Given the description of an element on the screen output the (x, y) to click on. 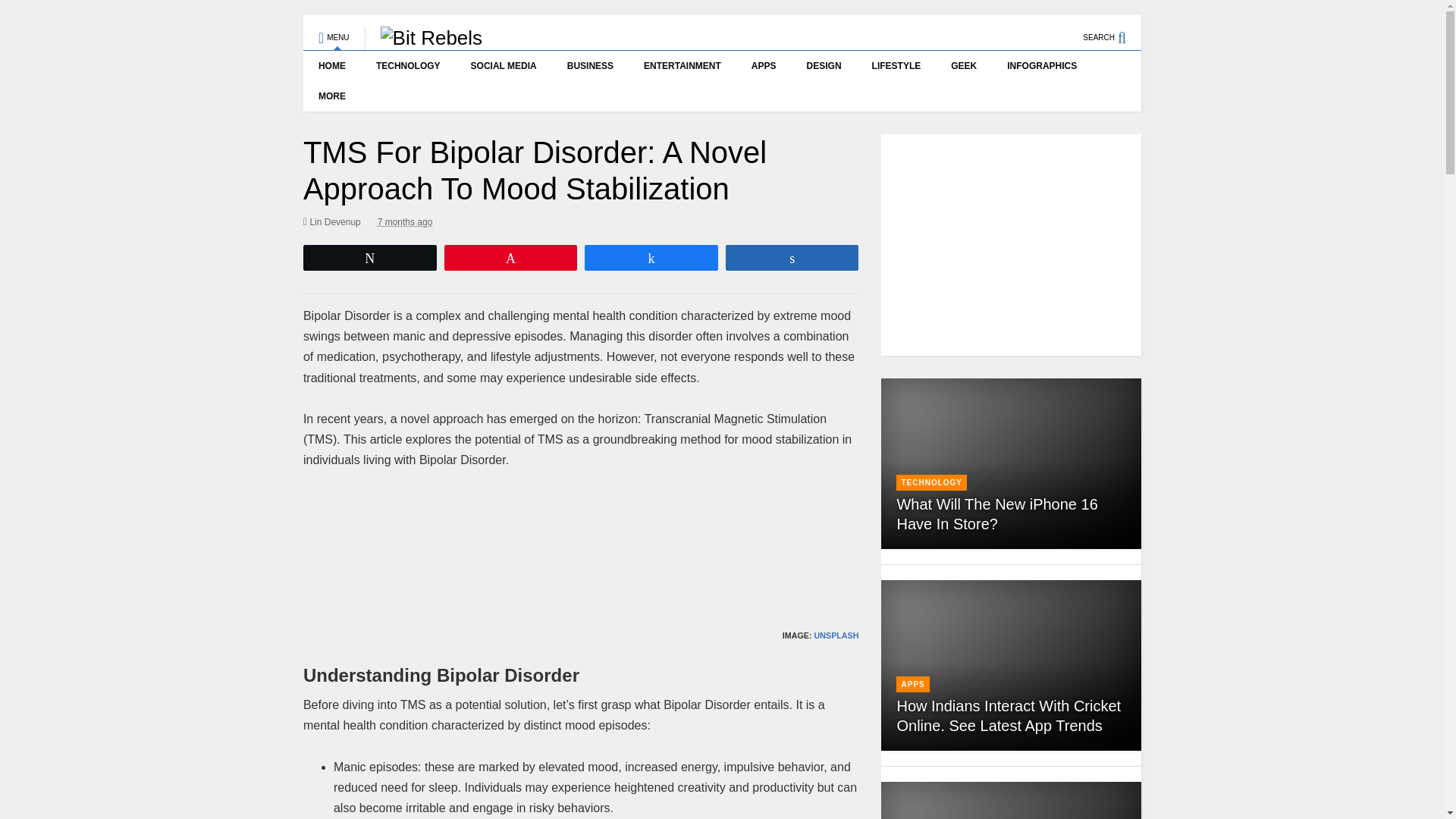
GEEK (963, 65)
Lin Devenup (331, 222)
SEARCH (1112, 30)
APPS (764, 65)
INFOGRAPHICS (1041, 65)
LIFESTYLE (896, 65)
Bit Rebels (424, 37)
TECHNOLOGY (408, 65)
MORE (335, 96)
7 months ago (404, 222)
